Given the description of an element on the screen output the (x, y) to click on. 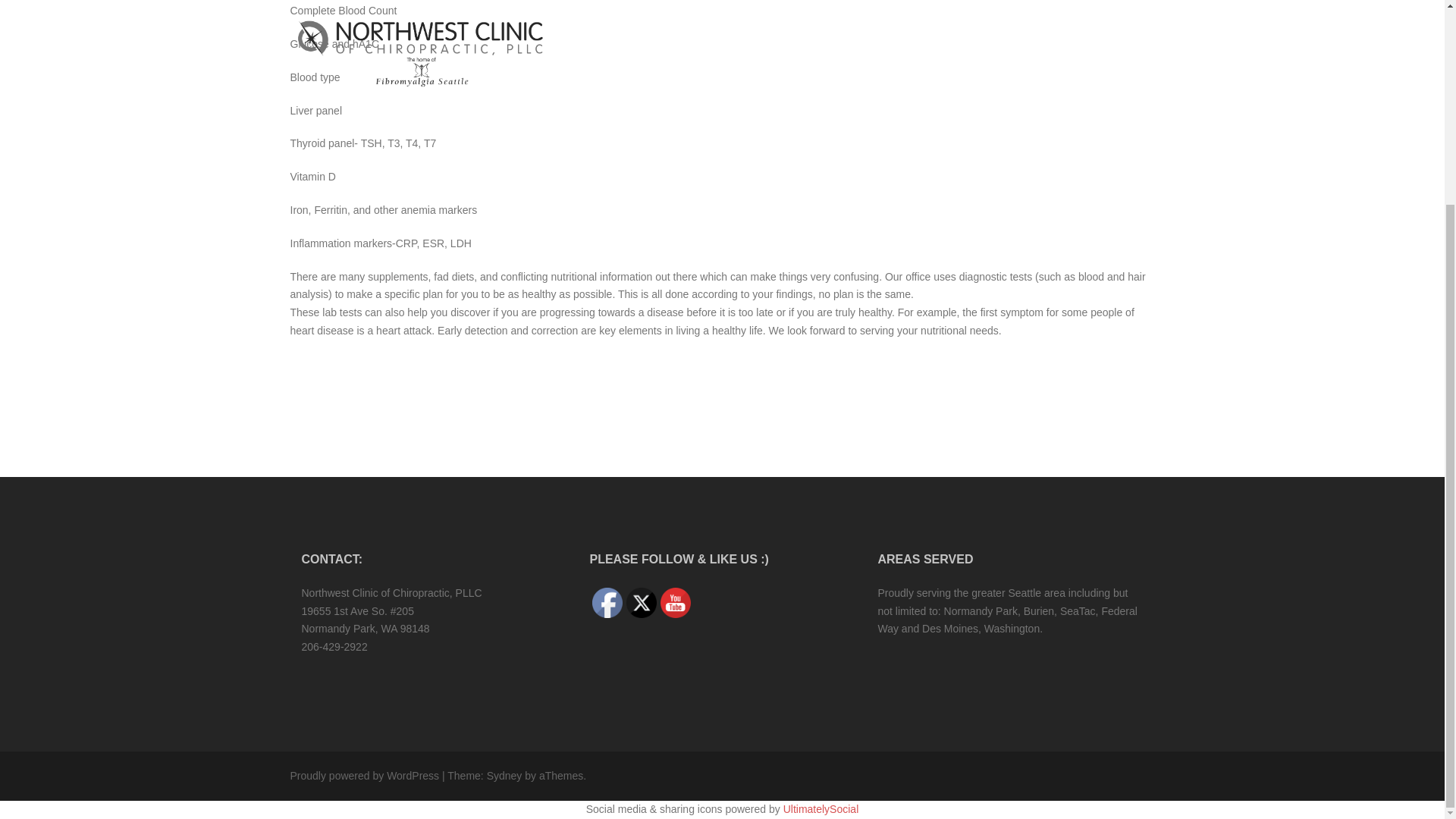
YouTube (675, 603)
Proudly powered by WordPress (364, 775)
Twitter (641, 603)
Sydney (504, 775)
UltimatelySocial (821, 808)
Facebook (607, 603)
